Given the description of an element on the screen output the (x, y) to click on. 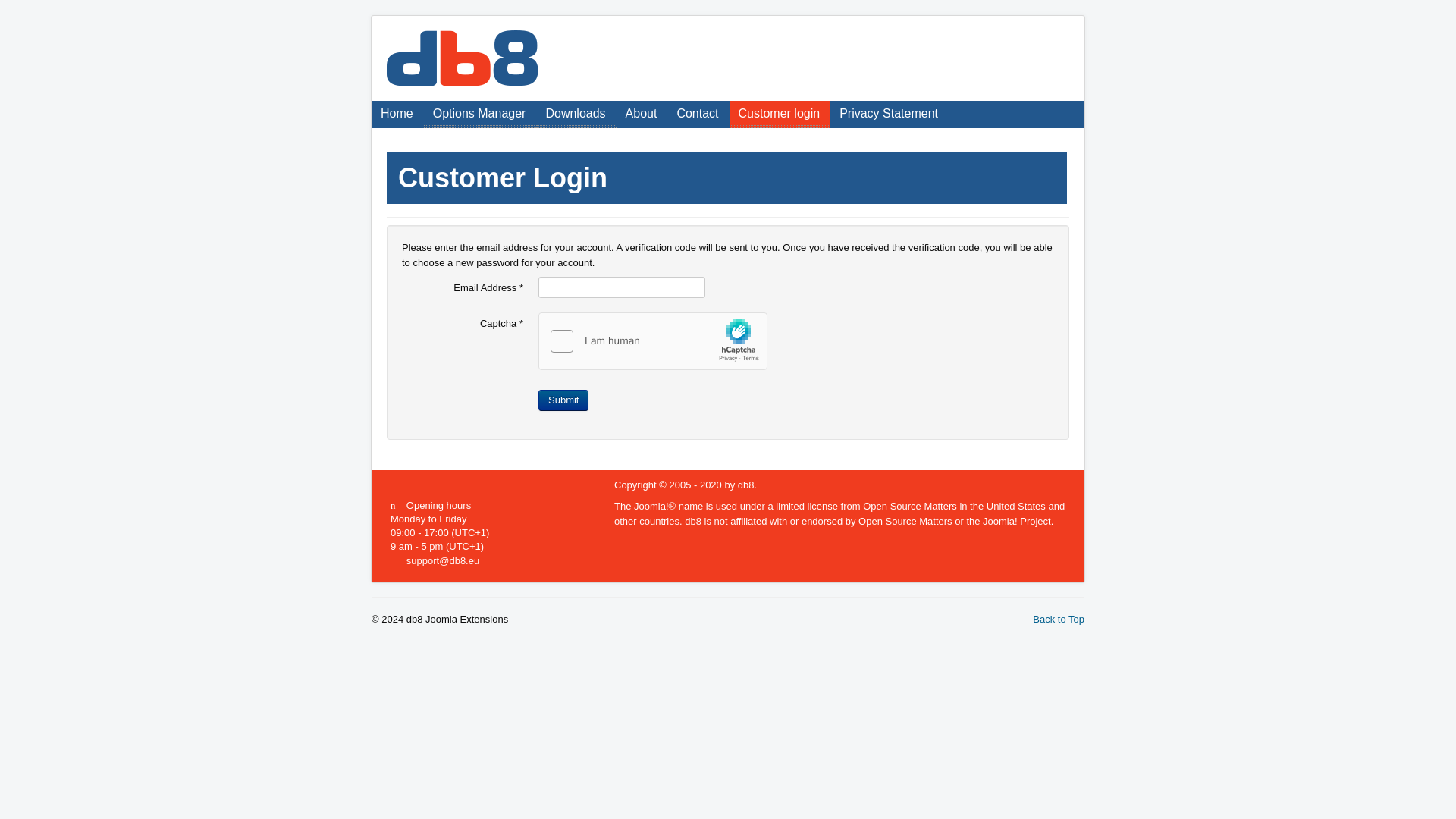
Privacy Statement (888, 113)
Widget containing checkbox for hCaptcha security challenge (653, 341)
Home (396, 113)
Options Manager (479, 114)
Submit (563, 400)
Contact (696, 113)
Downloads (574, 114)
Customer login (779, 114)
About (640, 113)
